Given the description of an element on the screen output the (x, y) to click on. 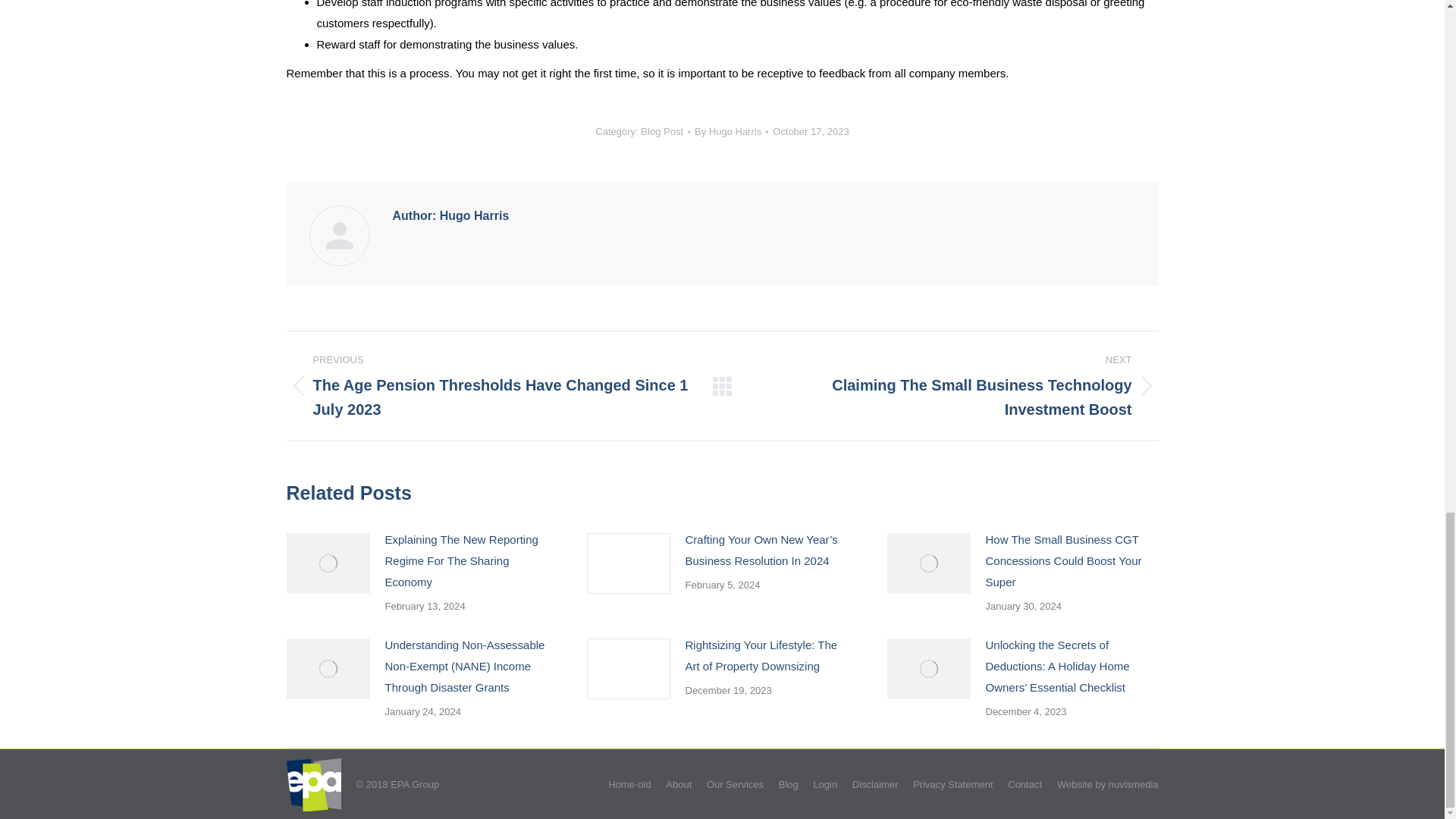
11:28 am (810, 131)
View all posts by Hugo Harris (731, 131)
